Given the description of an element on the screen output the (x, y) to click on. 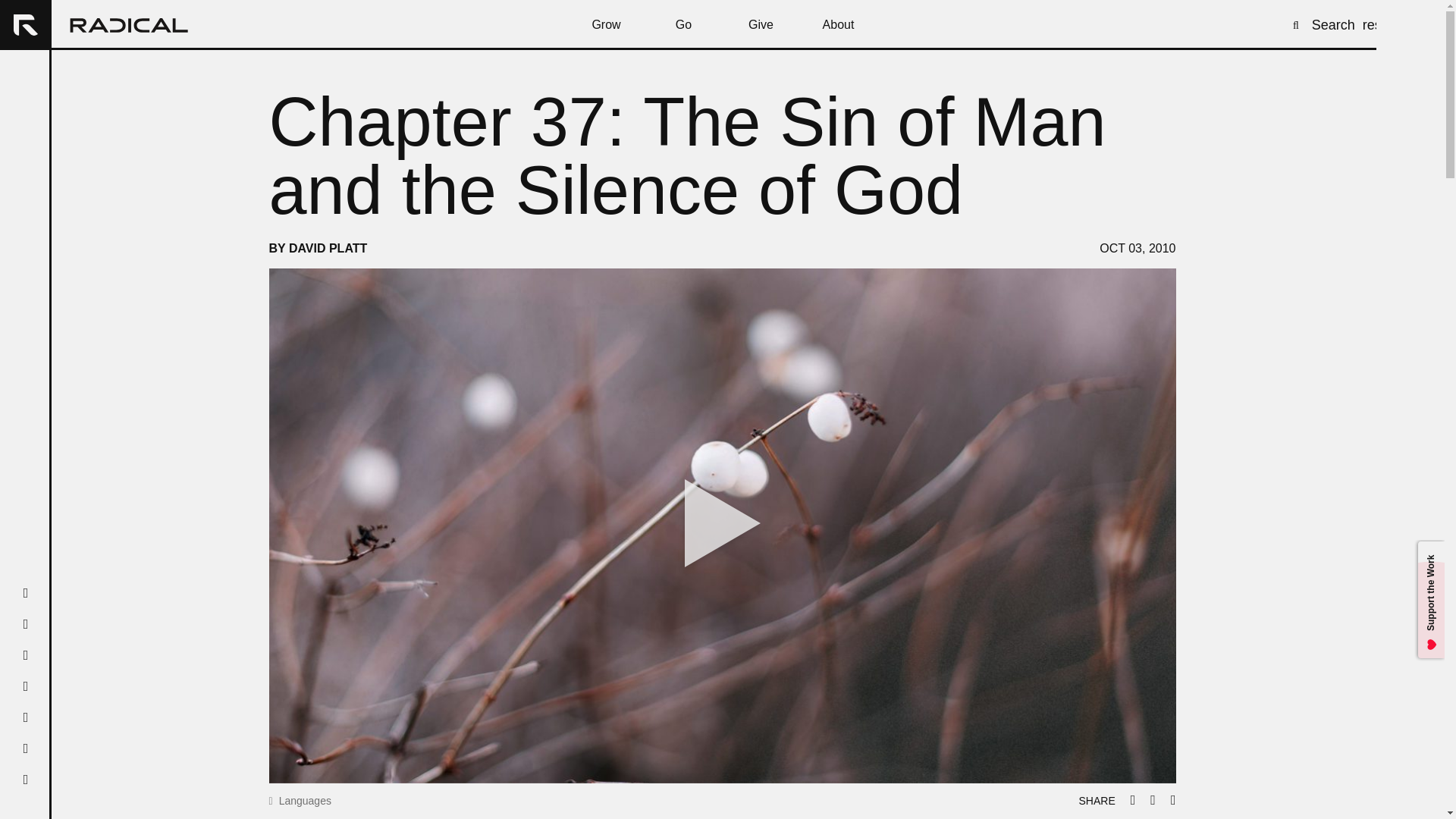
About (837, 24)
Go (683, 24)
Give (760, 24)
Grow (606, 24)
